Given the description of an element on the screen output the (x, y) to click on. 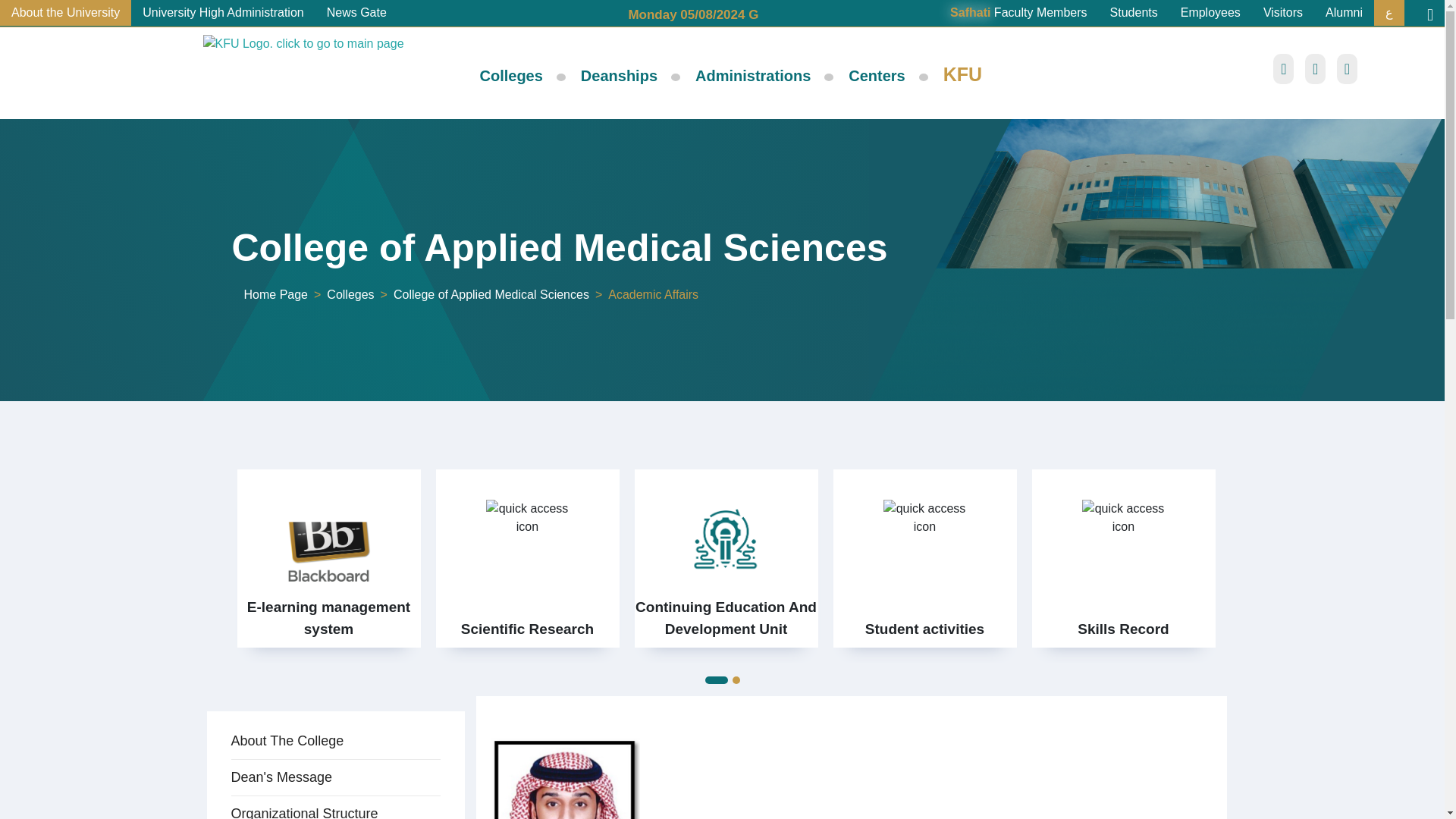
News Gate (356, 12)
Accessibility (1315, 69)
E-mail (1347, 69)
E-mail (1347, 69)
About the University (65, 12)
University High Administration (223, 12)
Students (1134, 12)
King Faisal University Logo (324, 70)
Search (1283, 69)
Visitors (1283, 12)
Colleges (511, 75)
Search (1283, 69)
Alumni (1344, 12)
Employees (1210, 12)
Safhati Faculty Members (1019, 12)
